Given the description of an element on the screen output the (x, y) to click on. 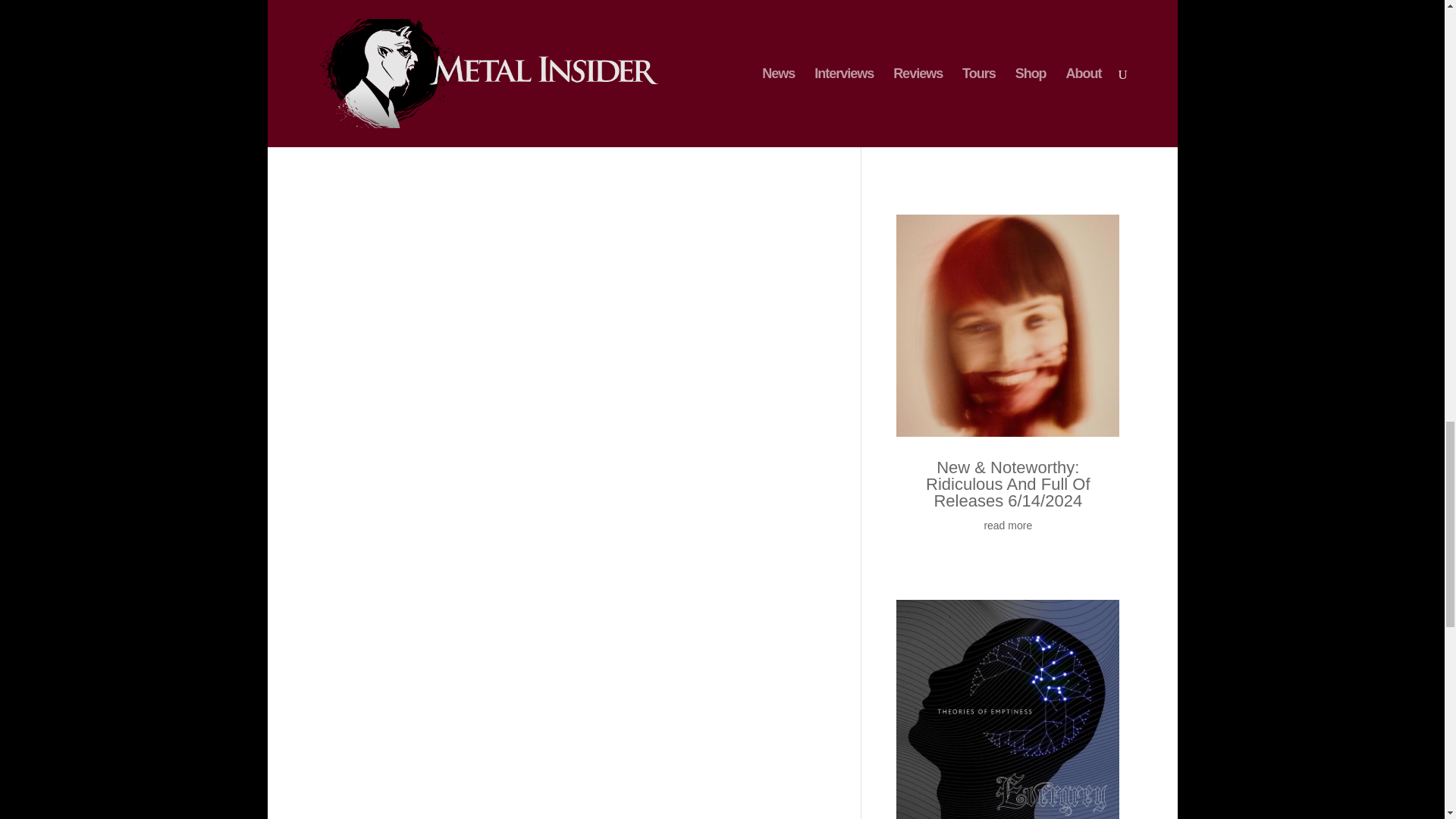
read more (1007, 525)
read more (1007, 140)
